Given the description of an element on the screen output the (x, y) to click on. 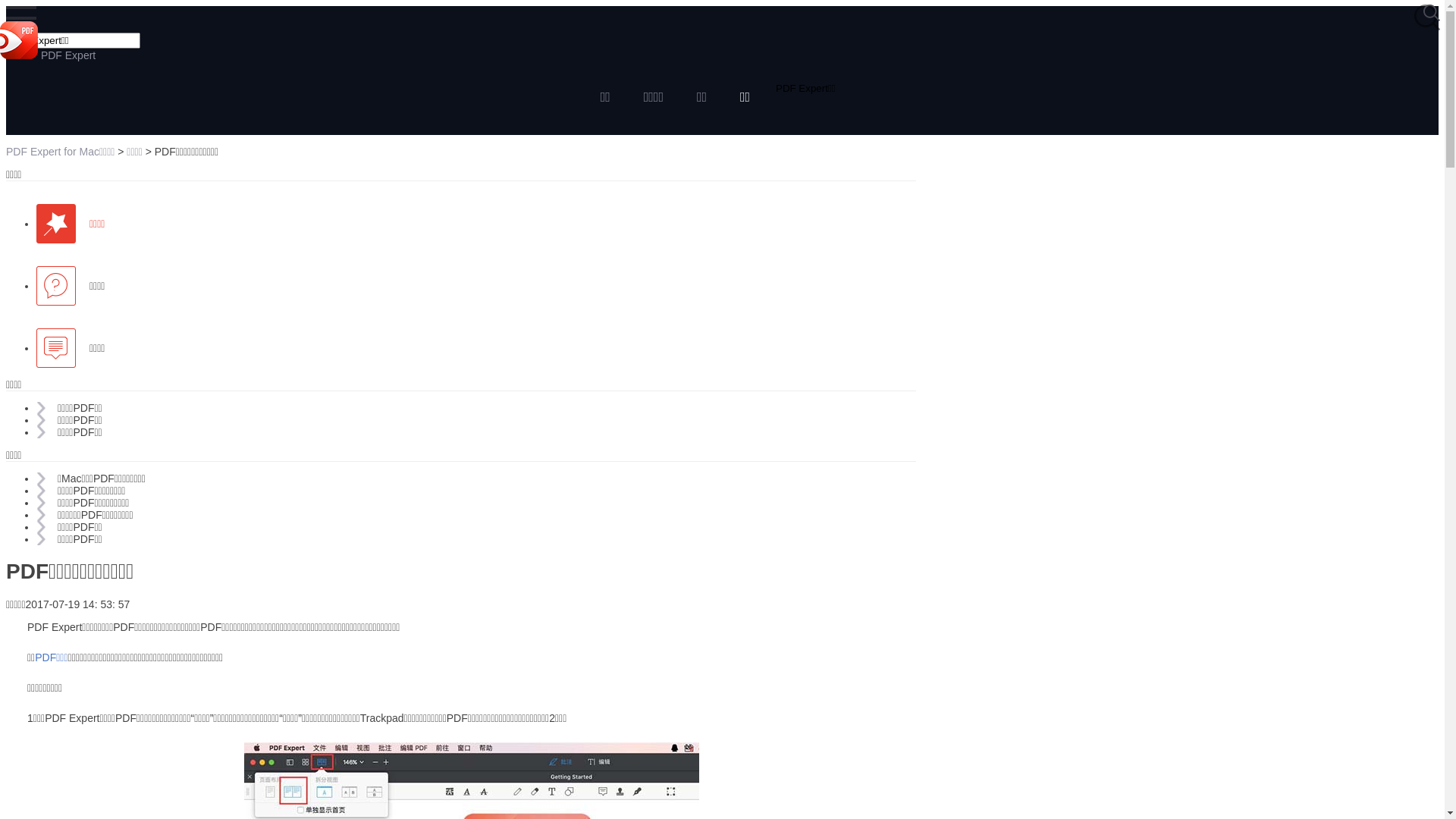
PDF Expert Element type: text (47, 55)
